Given the description of an element on the screen output the (x, y) to click on. 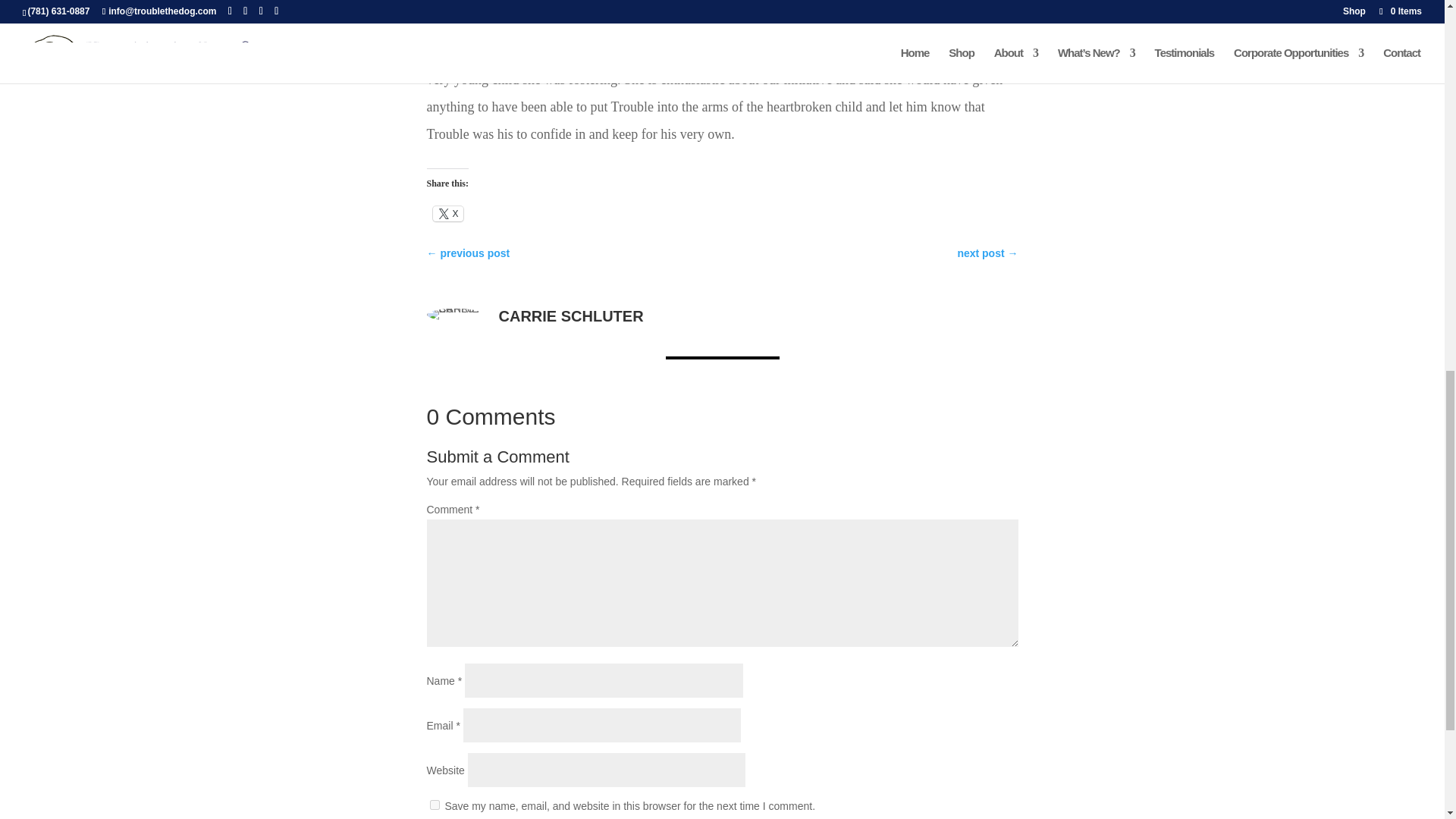
yes (434, 804)
X (447, 213)
Click to share on X (447, 213)
